Given the description of an element on the screen output the (x, y) to click on. 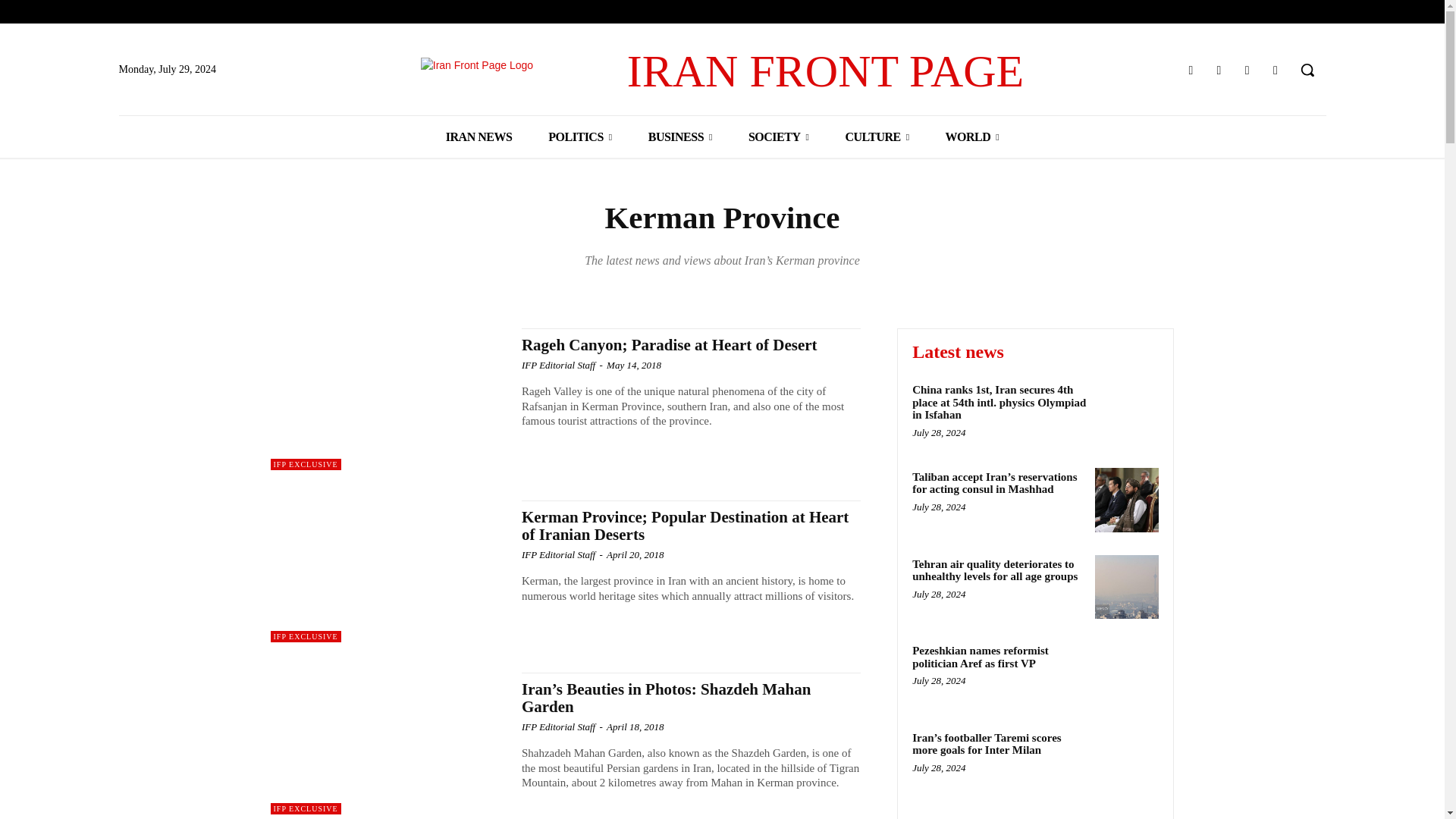
Instagram (1218, 69)
Iran Front Page Logo (523, 71)
Twitter (1246, 69)
Iran Front Page Logo (721, 70)
Facebook (1190, 69)
